Given the description of an element on the screen output the (x, y) to click on. 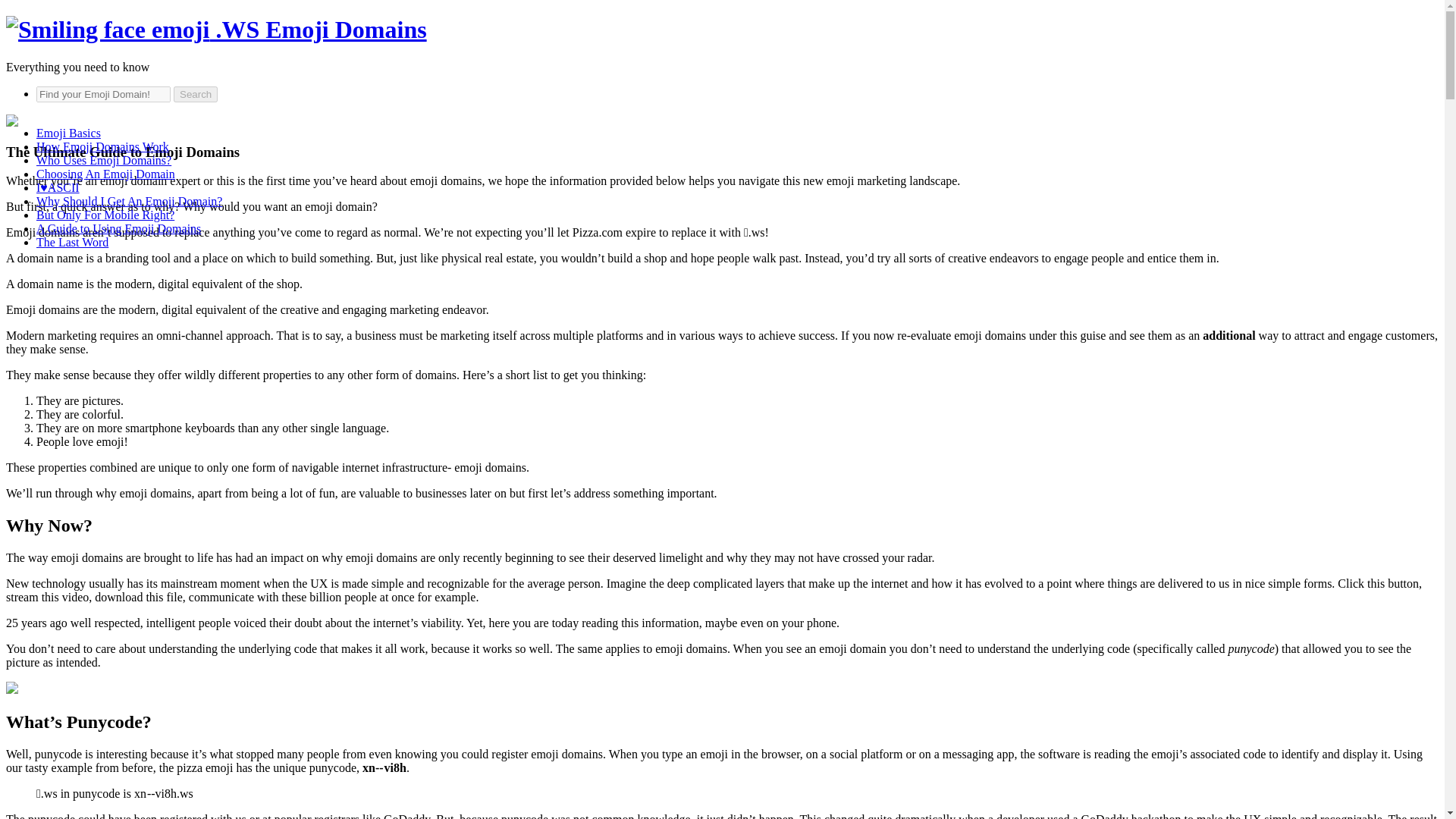
Pizza.com (597, 232)
A Guide to Using Emoji Domains (118, 228)
Search (194, 94)
Emoji Basics (68, 132)
.WS Emoji Domains (215, 29)
The Last Word (71, 241)
Who Uses Emoji Domains? (103, 160)
But Only For Mobile Right? (105, 214)
Why Should I Get An Emoji Domain? (129, 201)
Choosing An Emoji Domain (105, 173)
How Emoji Domains Work (102, 146)
